Given the description of an element on the screen output the (x, y) to click on. 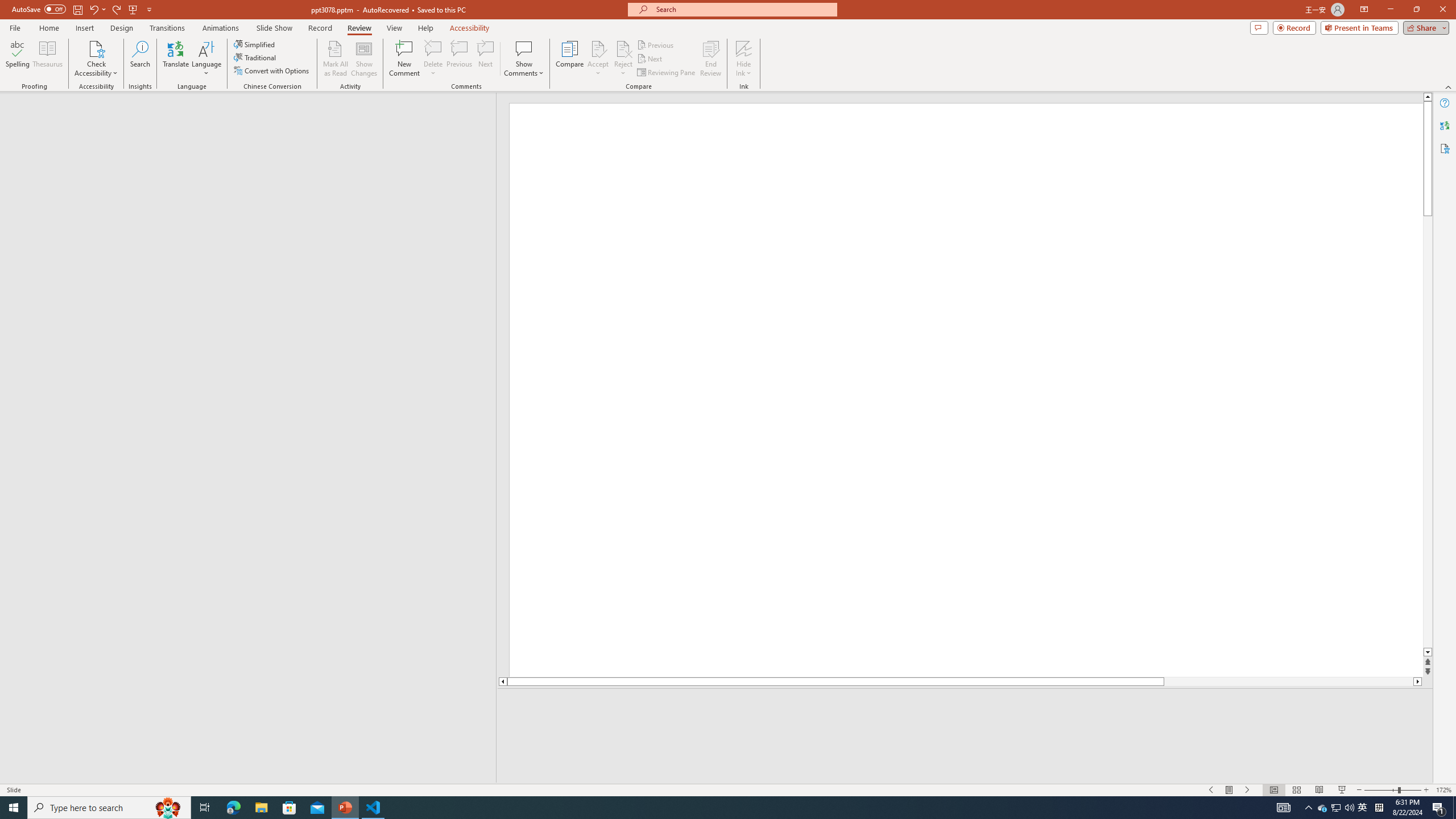
Accept Change (598, 48)
Show Changes (363, 58)
